Given the description of an element on the screen output the (x, y) to click on. 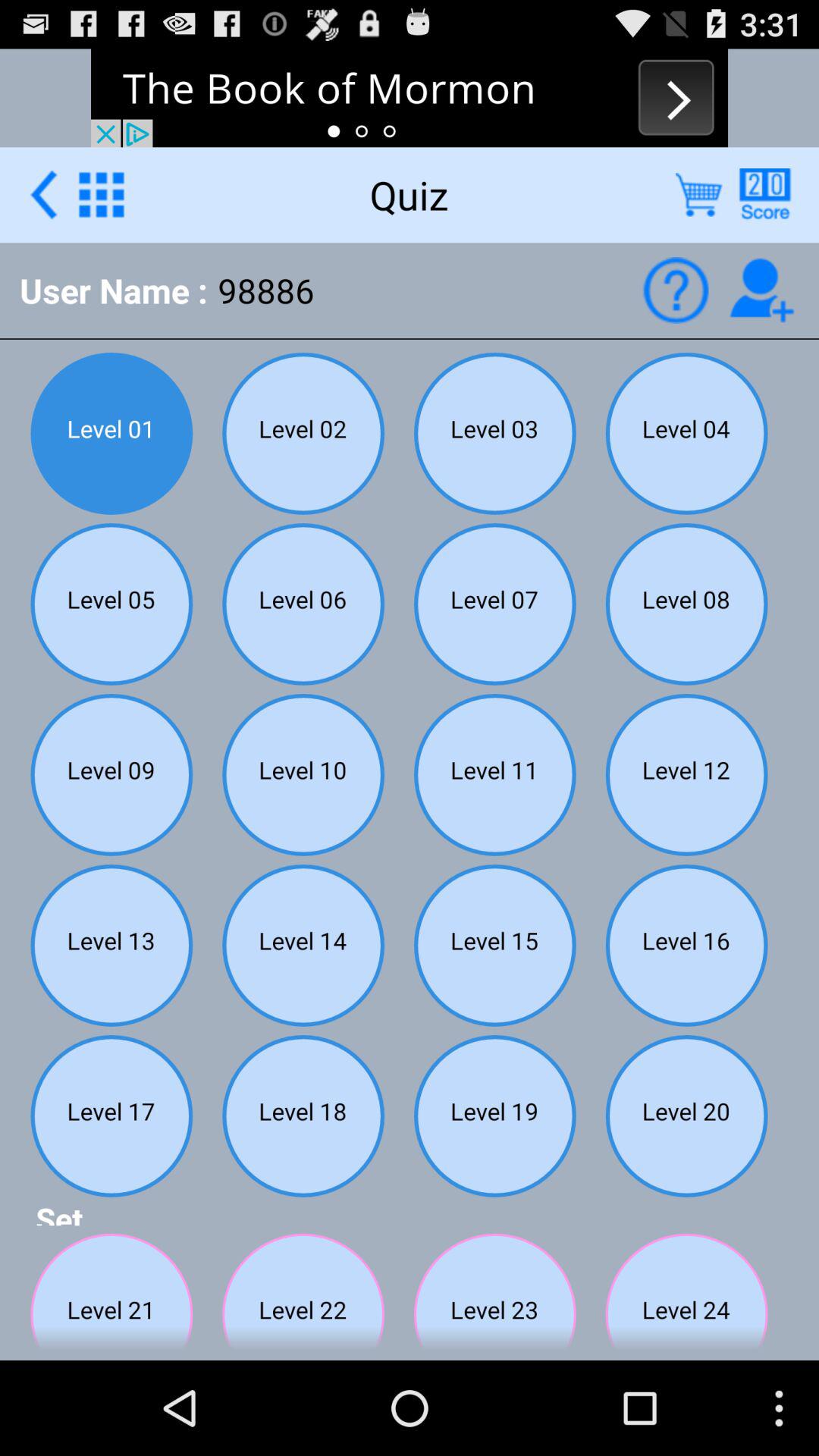
back space page (43, 194)
